Given the description of an element on the screen output the (x, y) to click on. 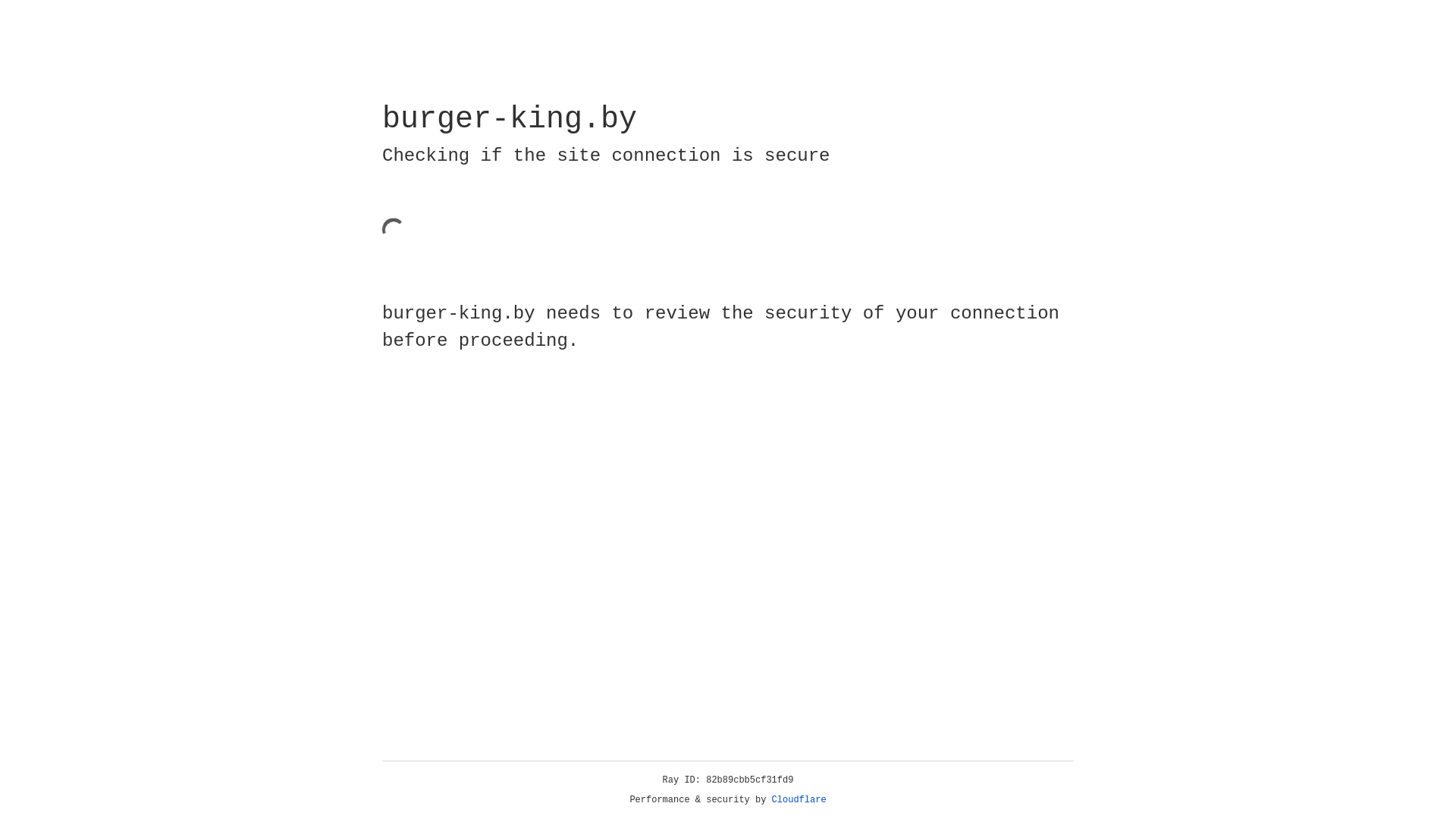
Cloudflare Element type: text (798, 799)
